Given the description of an element on the screen output the (x, y) to click on. 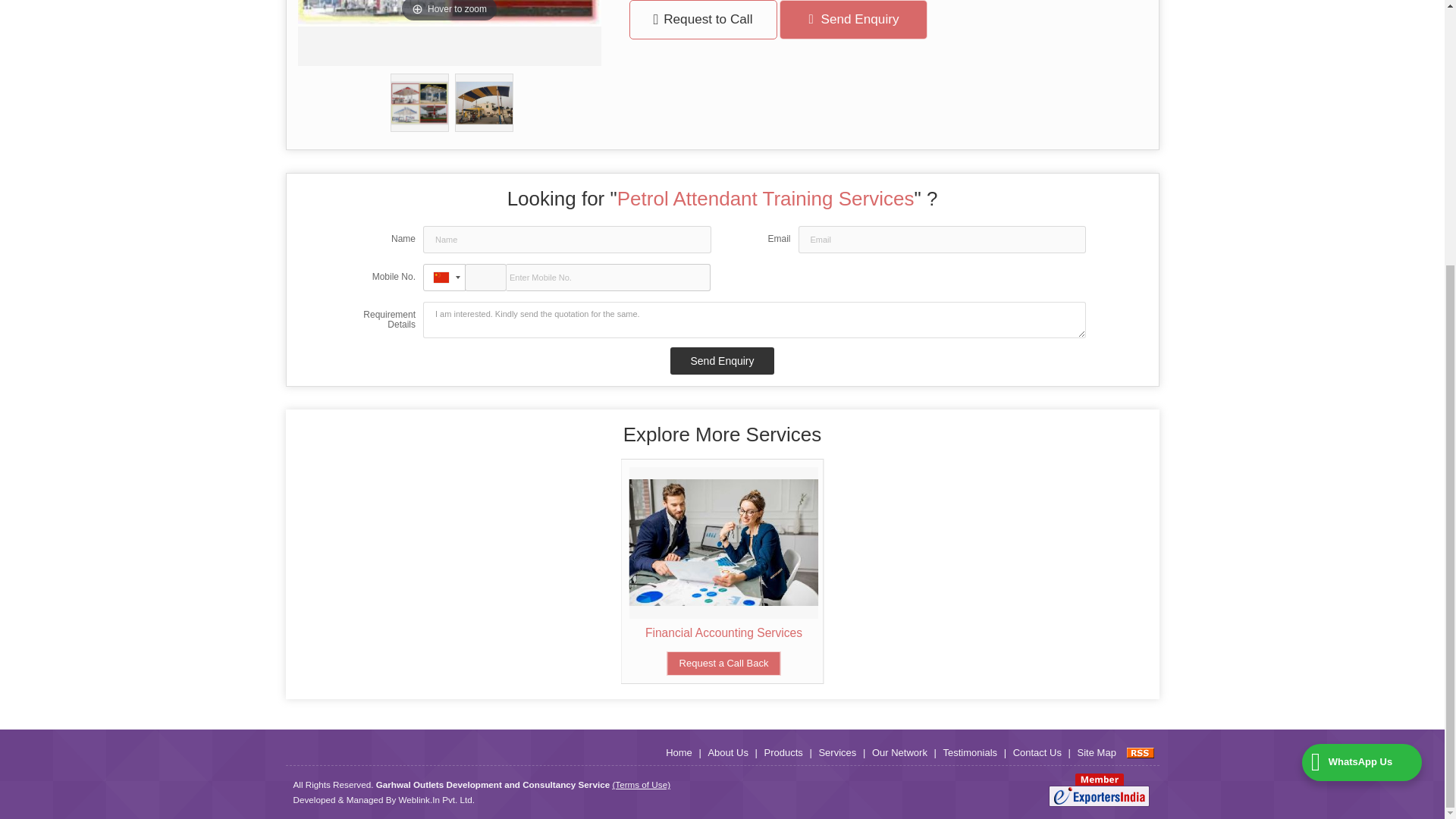
Send Enquiry (721, 360)
